Given the description of an element on the screen output the (x, y) to click on. 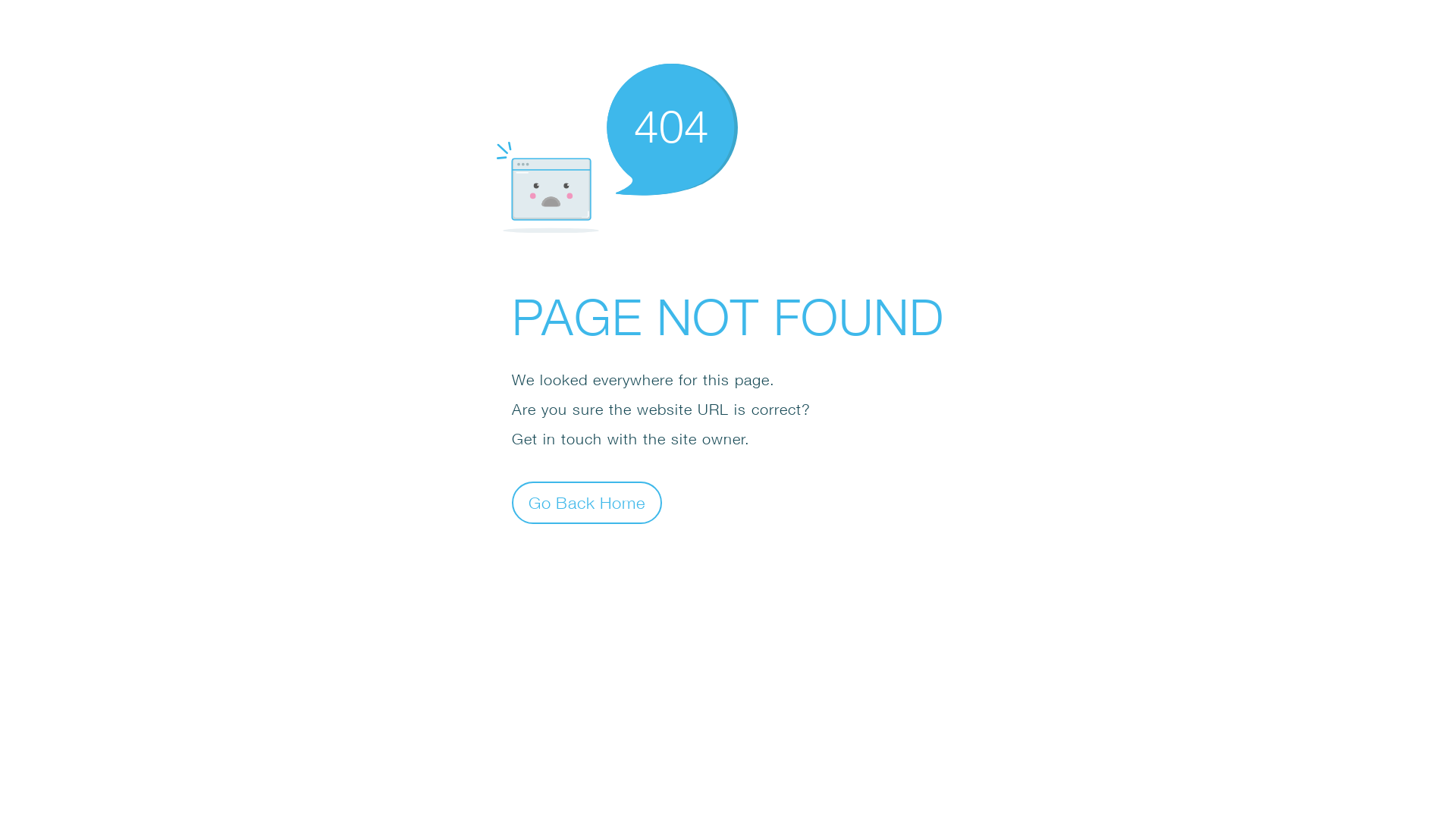
Go Back Home Element type: text (586, 502)
